Given the description of an element on the screen output the (x, y) to click on. 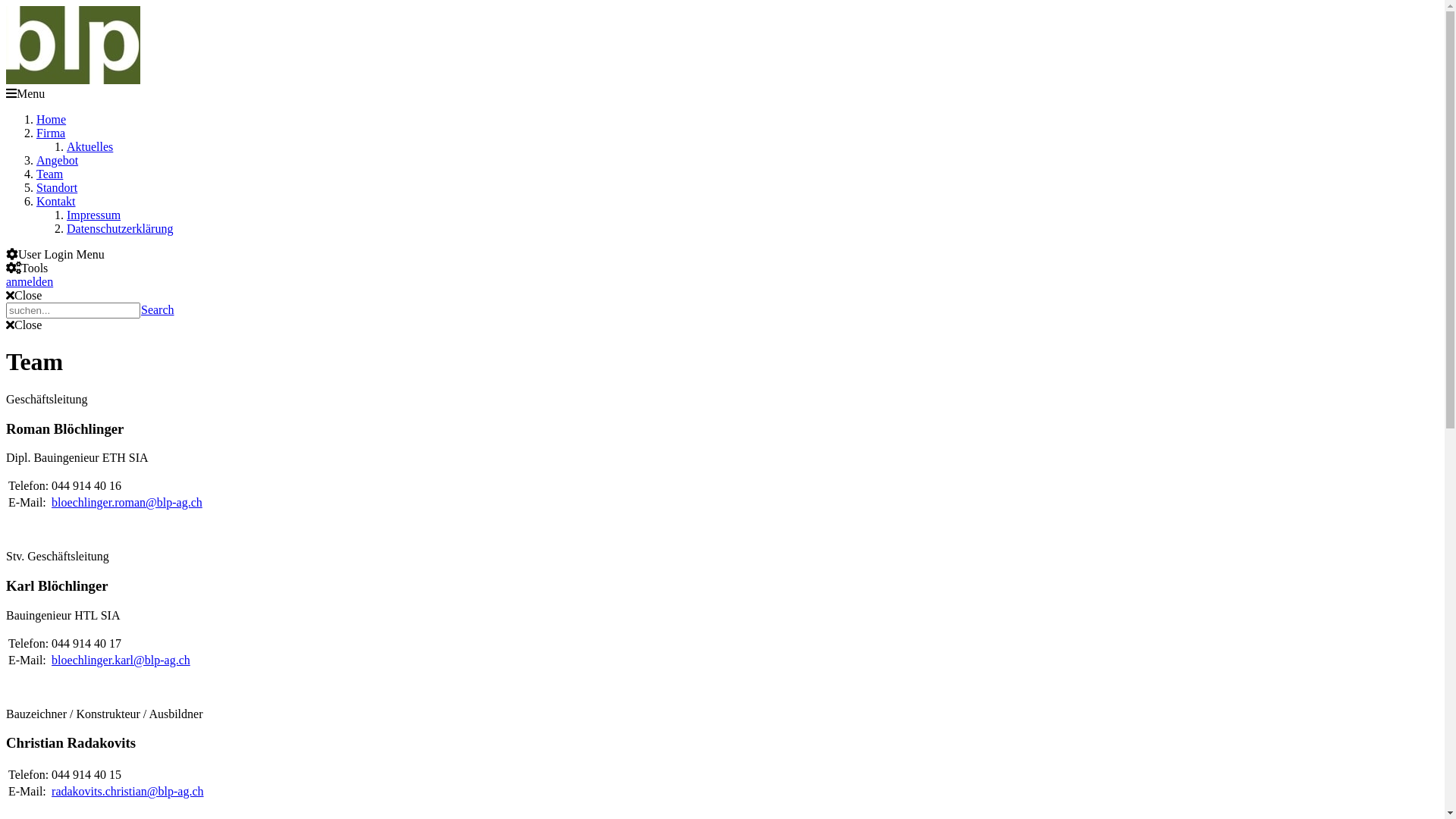
bloechlinger.roman@blp-ag.ch Element type: text (126, 501)
radakovits.christian@blp-ag.ch Element type: text (127, 790)
Home Element type: text (50, 118)
Suchtext entfernen Element type: hover (126, 329)
Standort Element type: text (56, 187)
Kontakt Element type: text (55, 200)
Team Element type: text (49, 173)
Search Element type: text (157, 309)
blp-ag.ch Element type: hover (73, 79)
bloechlinger.karl@blp-ag.ch Element type: text (120, 659)
Impressum Element type: text (93, 214)
Aktuelles Element type: text (89, 146)
Firma Element type: text (50, 132)
anmelden Element type: text (29, 281)
Angebot Element type: text (57, 159)
